Given the description of an element on the screen output the (x, y) to click on. 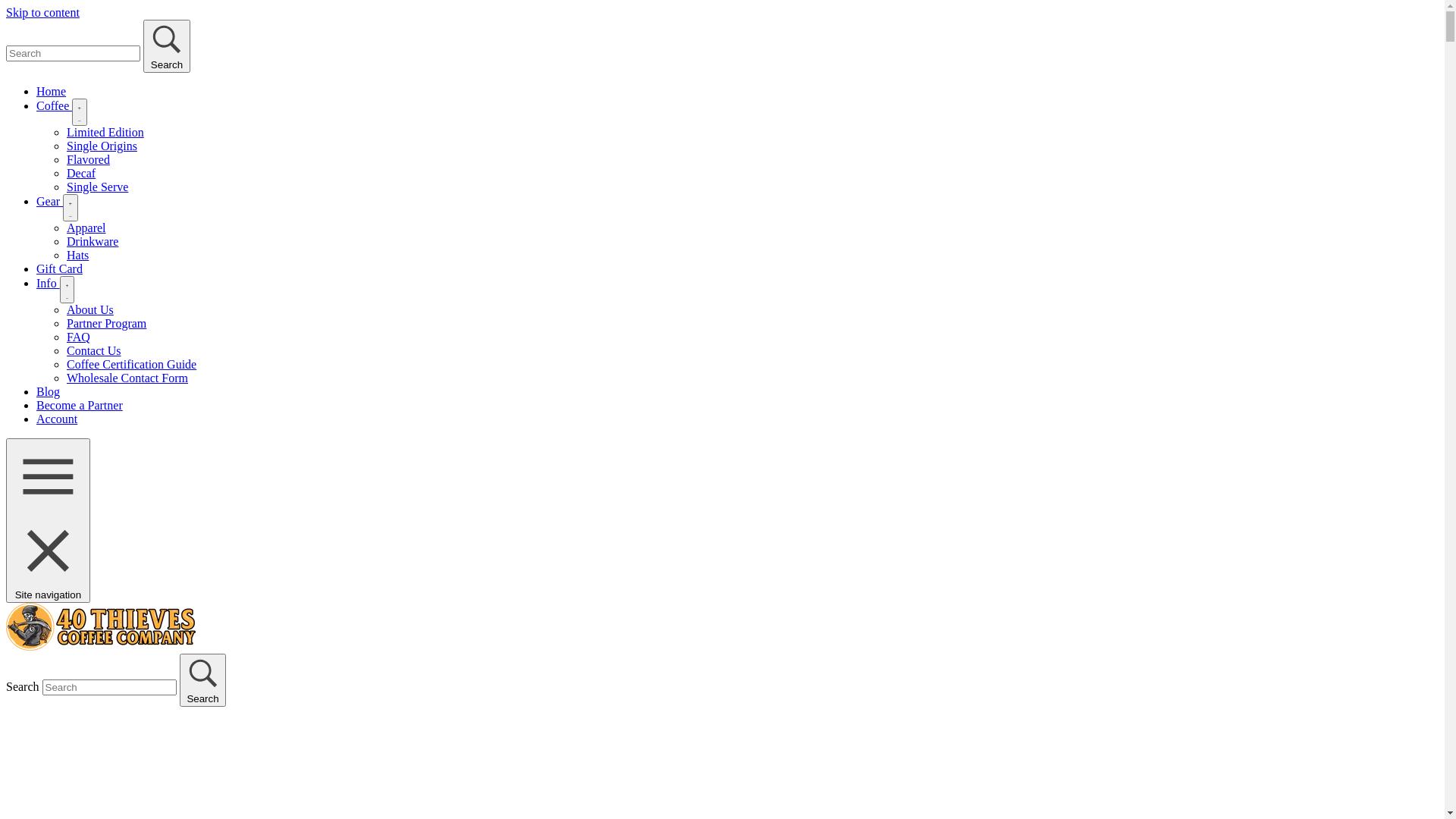
Single Serve Element type: text (97, 186)
Decaf Element type: text (80, 172)
Info Element type: text (47, 282)
Gear Element type: text (49, 200)
Blog Element type: text (47, 391)
Home Element type: text (50, 90)
Wholesale Contact Form Element type: text (127, 377)
Flavored Element type: text (87, 159)
Site navigation Element type: text (48, 520)
FAQ Element type: text (78, 336)
Limited Edition Element type: text (105, 131)
Drinkware Element type: text (92, 241)
About Us Element type: text (89, 309)
Account Element type: text (56, 418)
Hats Element type: text (77, 254)
Coffee Element type: text (54, 105)
Single Origins Element type: text (101, 145)
Search Element type: text (202, 679)
Contact Us Element type: text (93, 350)
Gift Card Element type: text (59, 268)
Search Element type: text (166, 45)
Partner Program Element type: text (106, 322)
Coffee Certification Guide Element type: text (131, 363)
Become a Partner Element type: text (79, 404)
Apparel Element type: text (86, 227)
Skip to content Element type: text (42, 12)
